Given the description of an element on the screen output the (x, y) to click on. 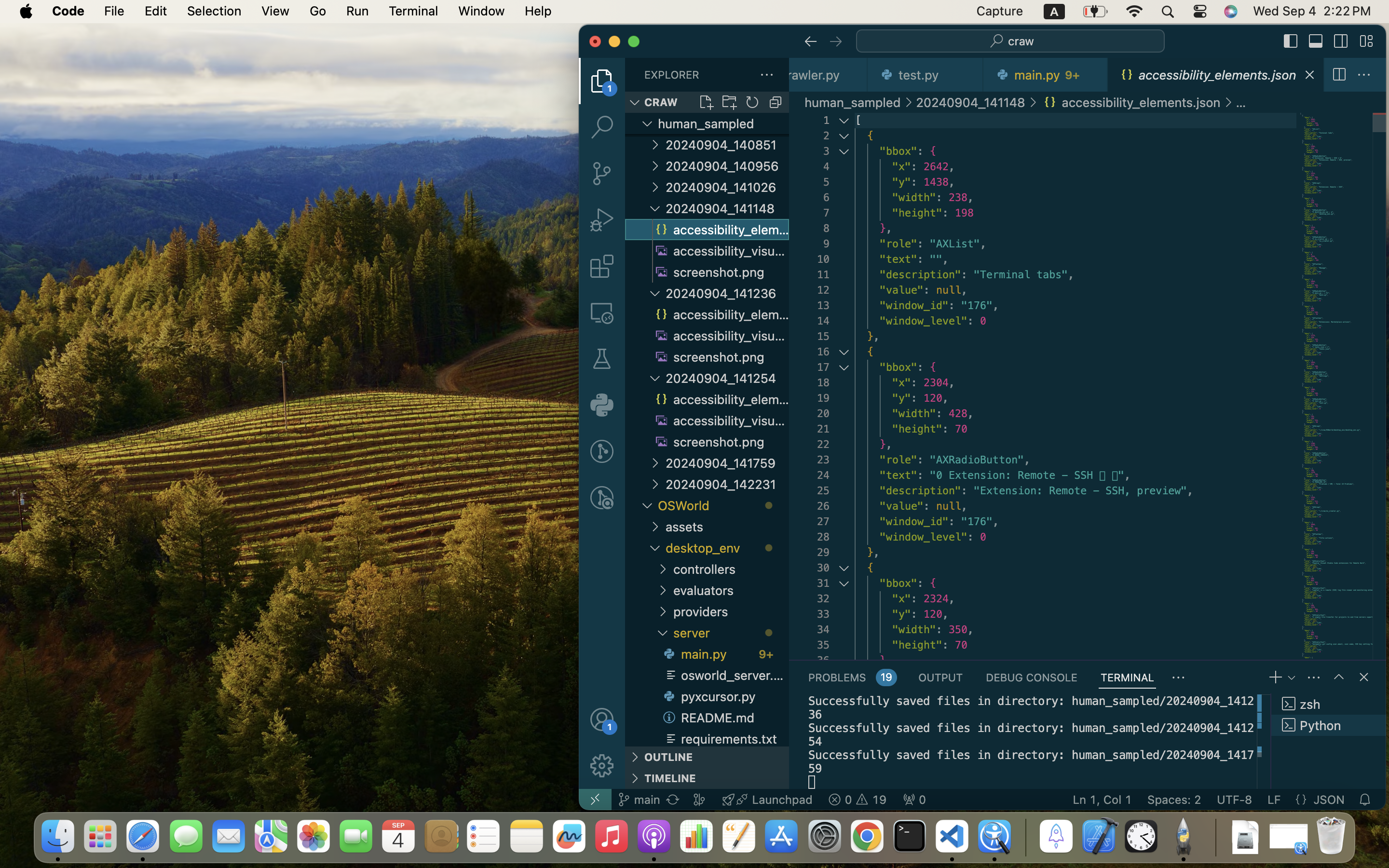
human_sampled Element type: AXGroup (852, 101)
0  Element type: AXRadioButton (601, 497)
evaluators Element type: AXGroup (731, 589)
 Element type: AXStaticText (1228, 101)
 Element type: AXStaticText (601, 765)
